Given the description of an element on the screen output the (x, y) to click on. 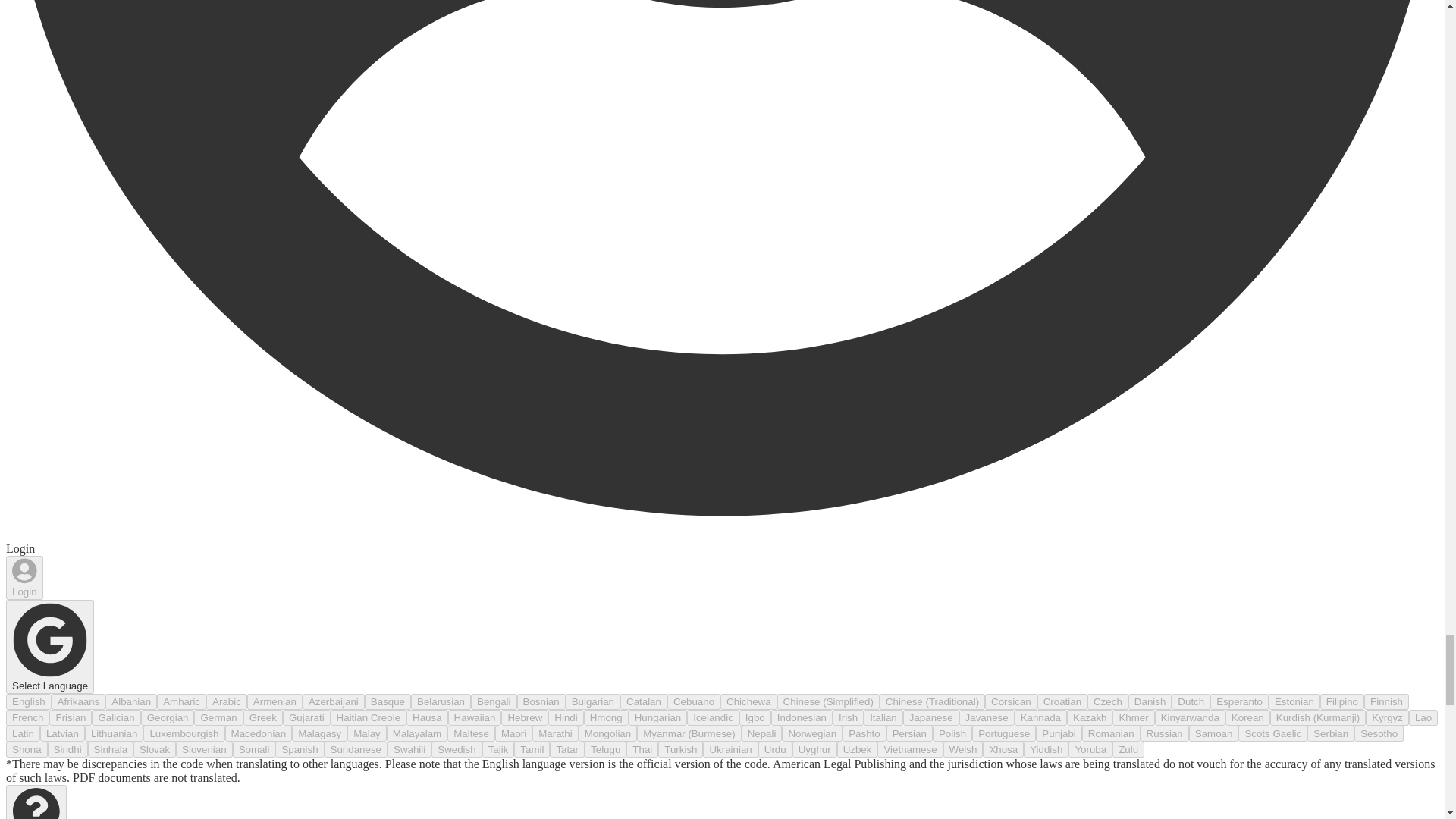
Dutch (1190, 701)
Czech (1107, 701)
Armenian (274, 701)
Bengali (493, 701)
Esperanto (1238, 701)
Filipino (1342, 701)
Select Language (49, 646)
English (27, 701)
Belarusian (440, 701)
Basque (387, 701)
